Given the description of an element on the screen output the (x, y) to click on. 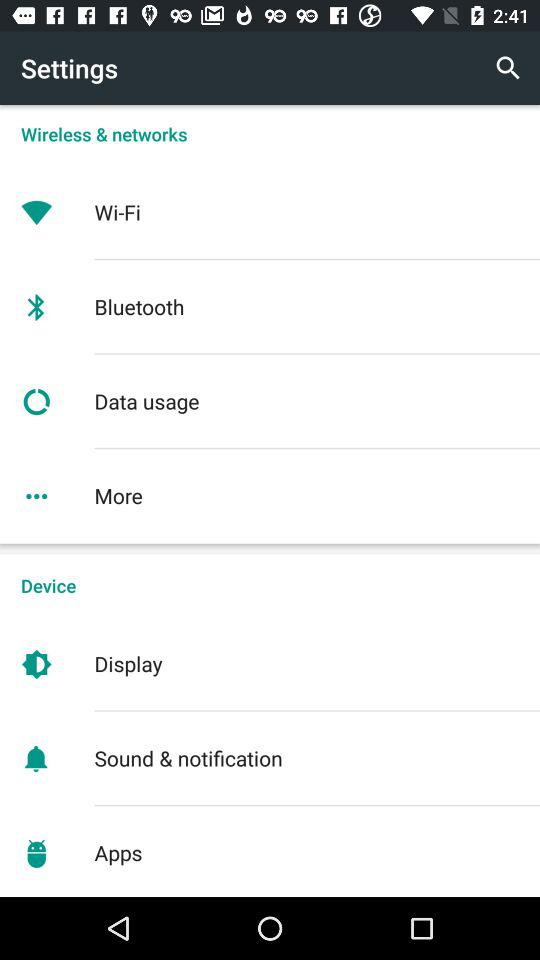
choose icon at the top right corner (508, 67)
